Given the description of an element on the screen output the (x, y) to click on. 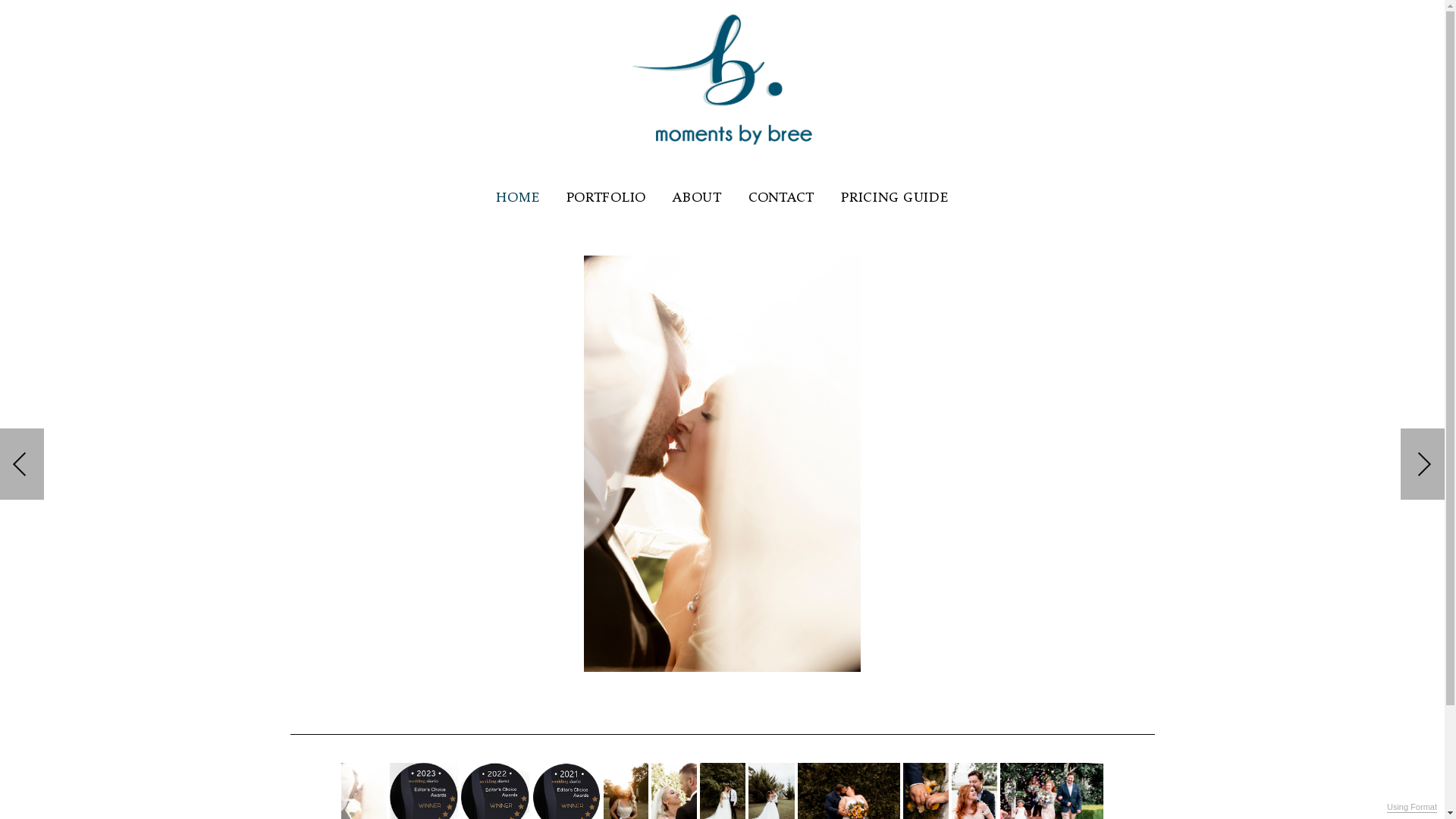
PORTFOLIO Element type: text (605, 196)
PRICING GUIDE Element type: text (893, 196)
ABOUT Element type: text (696, 196)
HOME Element type: text (517, 196)
CONTACT Element type: text (781, 196)
Using Format Element type: text (1411, 807)
